Given the description of an element on the screen output the (x, y) to click on. 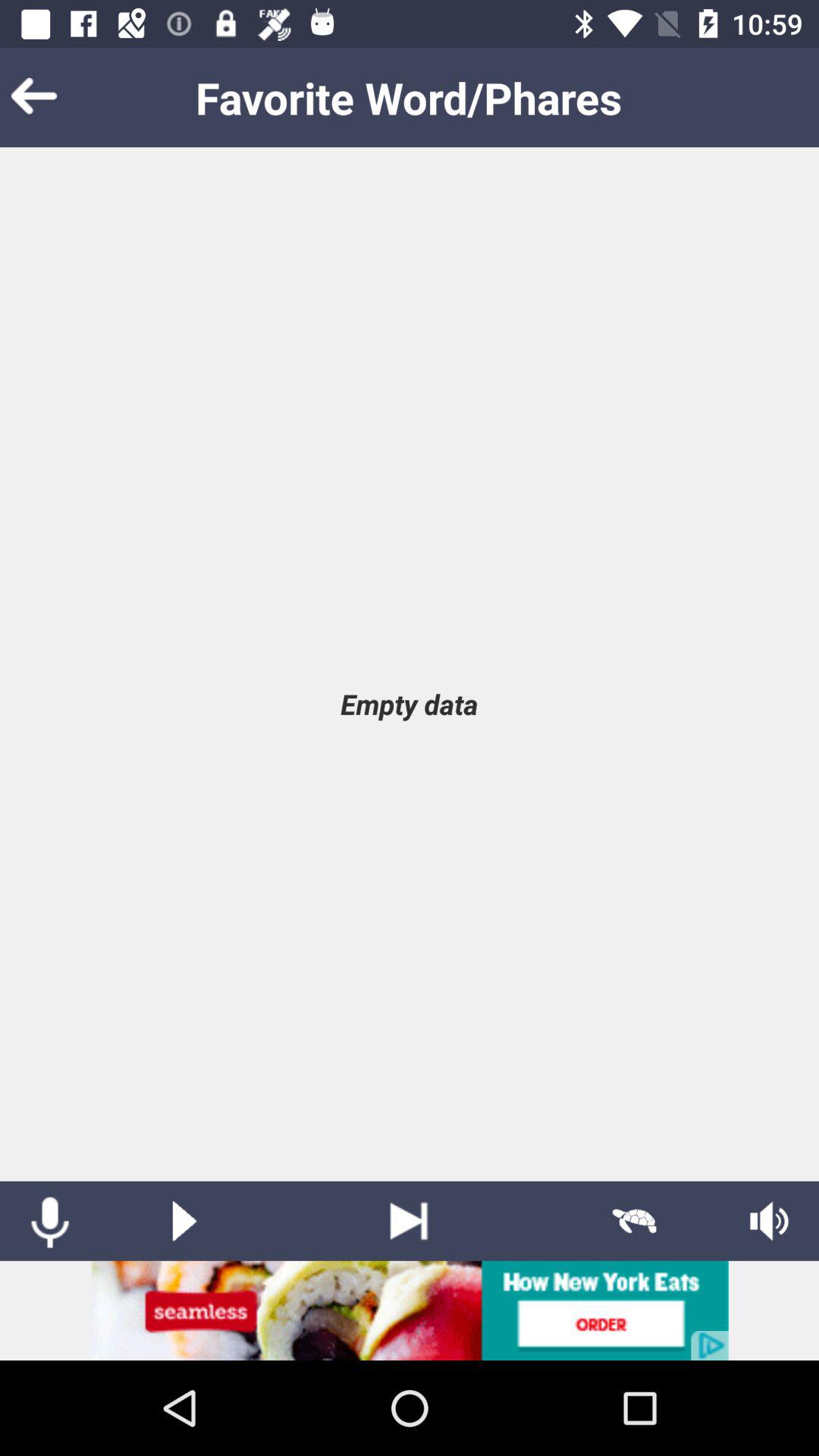
go back (57, 97)
